Given the description of an element on the screen output the (x, y) to click on. 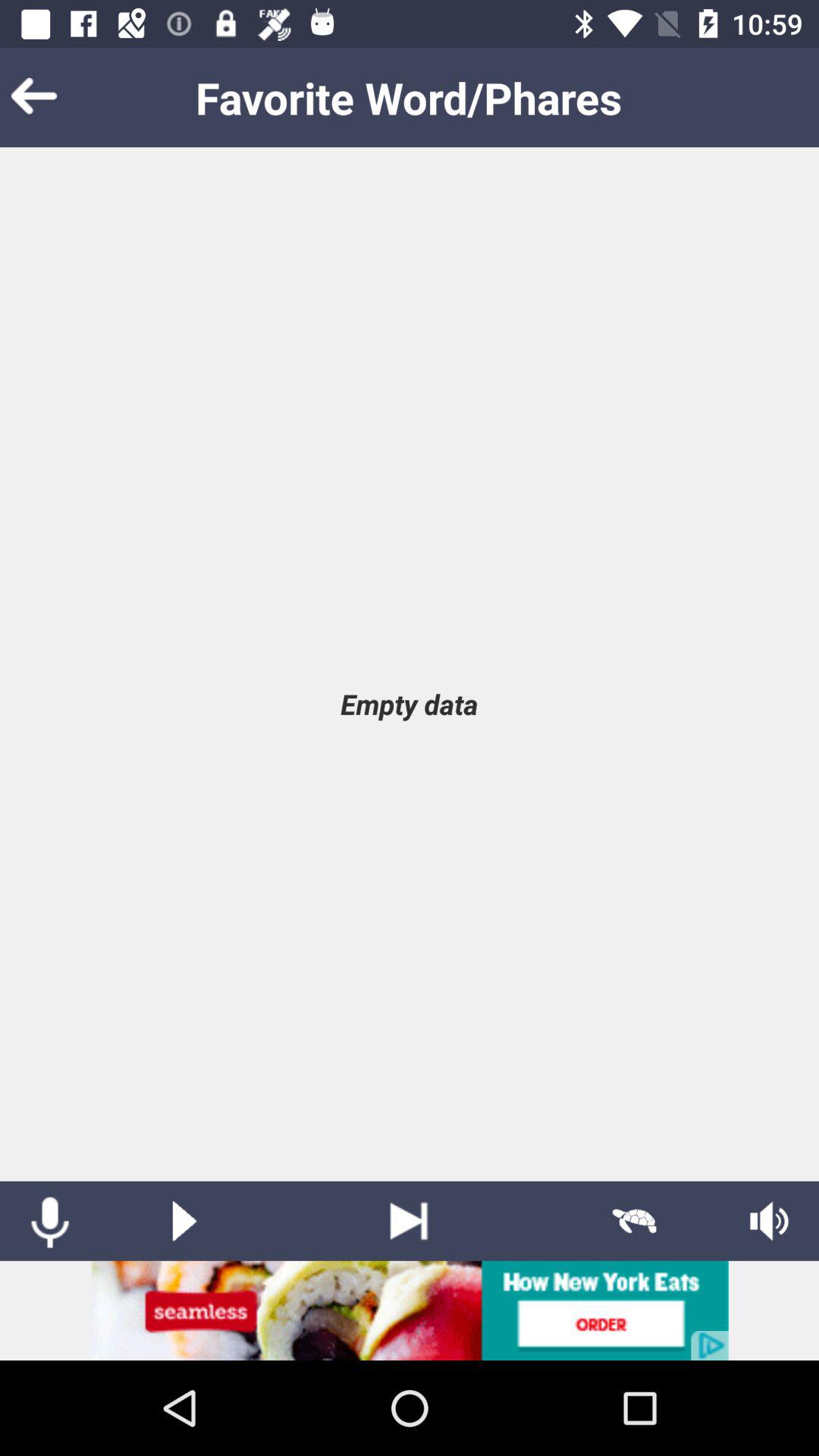
go back (57, 97)
